Given the description of an element on the screen output the (x, y) to click on. 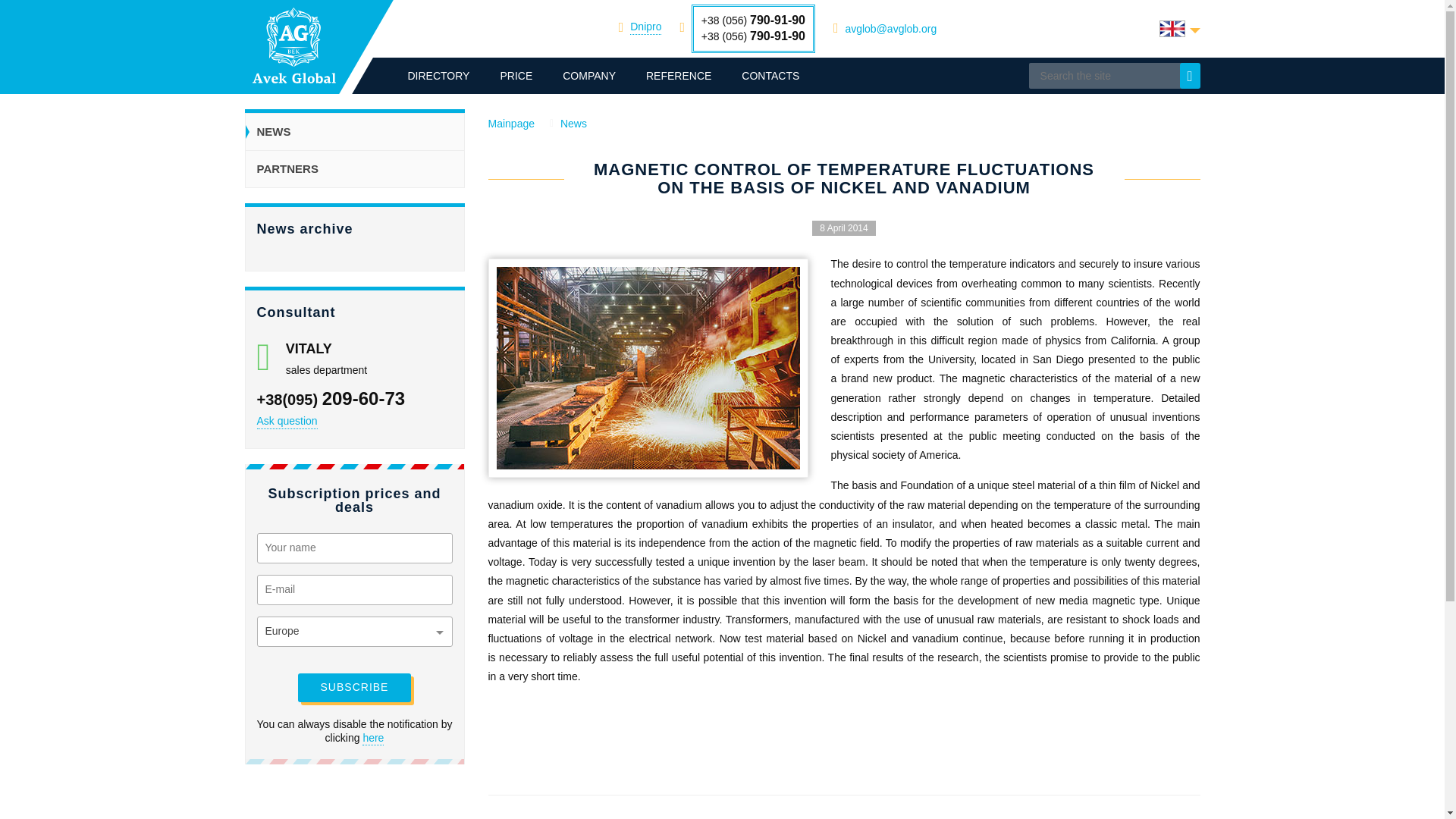
Europe (354, 631)
Select the language (1178, 28)
Dnipro (645, 26)
DIRECTORY (438, 75)
